Given the description of an element on the screen output the (x, y) to click on. 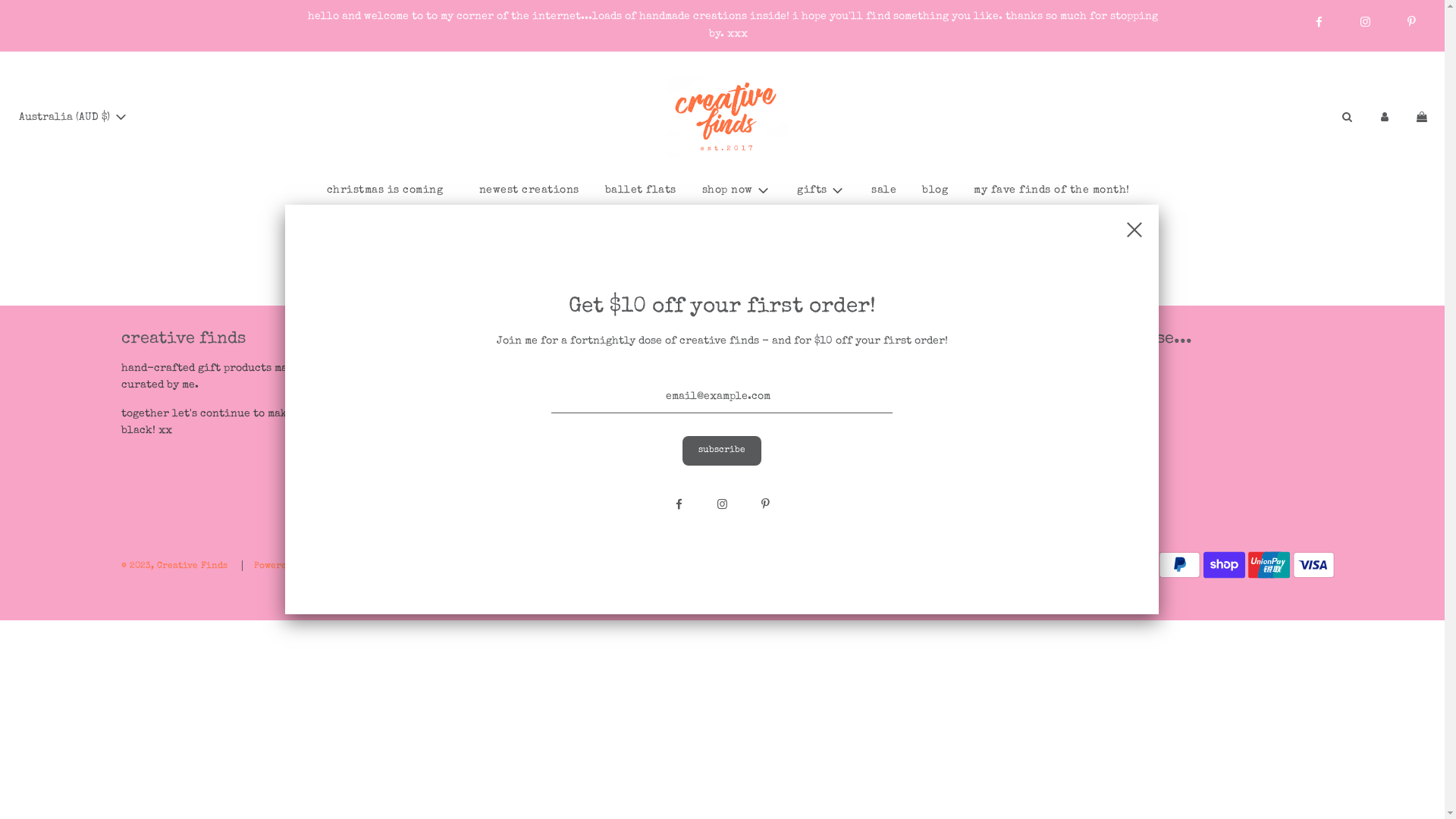
about Element type: text (445, 406)
Subscribe Element type: text (781, 463)
testimonials Element type: text (466, 426)
Subscribe Element type: text (721, 450)
search the site Element type: text (472, 368)
Powered by Shopify Element type: text (299, 566)
ballet flats Element type: text (640, 190)
gifts Element type: text (820, 190)
shop now Element type: text (736, 190)
Log in Element type: hover (1384, 117)
Australia (AUD $) Element type: text (73, 117)
blog Element type: text (934, 190)
faq's Element type: text (442, 387)
here Element type: text (788, 285)
make contact Element type: text (465, 446)
sale Element type: text (883, 190)
my fave finds of the month! Element type: text (1051, 190)
newest creations Element type: text (528, 190)
